Given the description of an element on the screen output the (x, y) to click on. 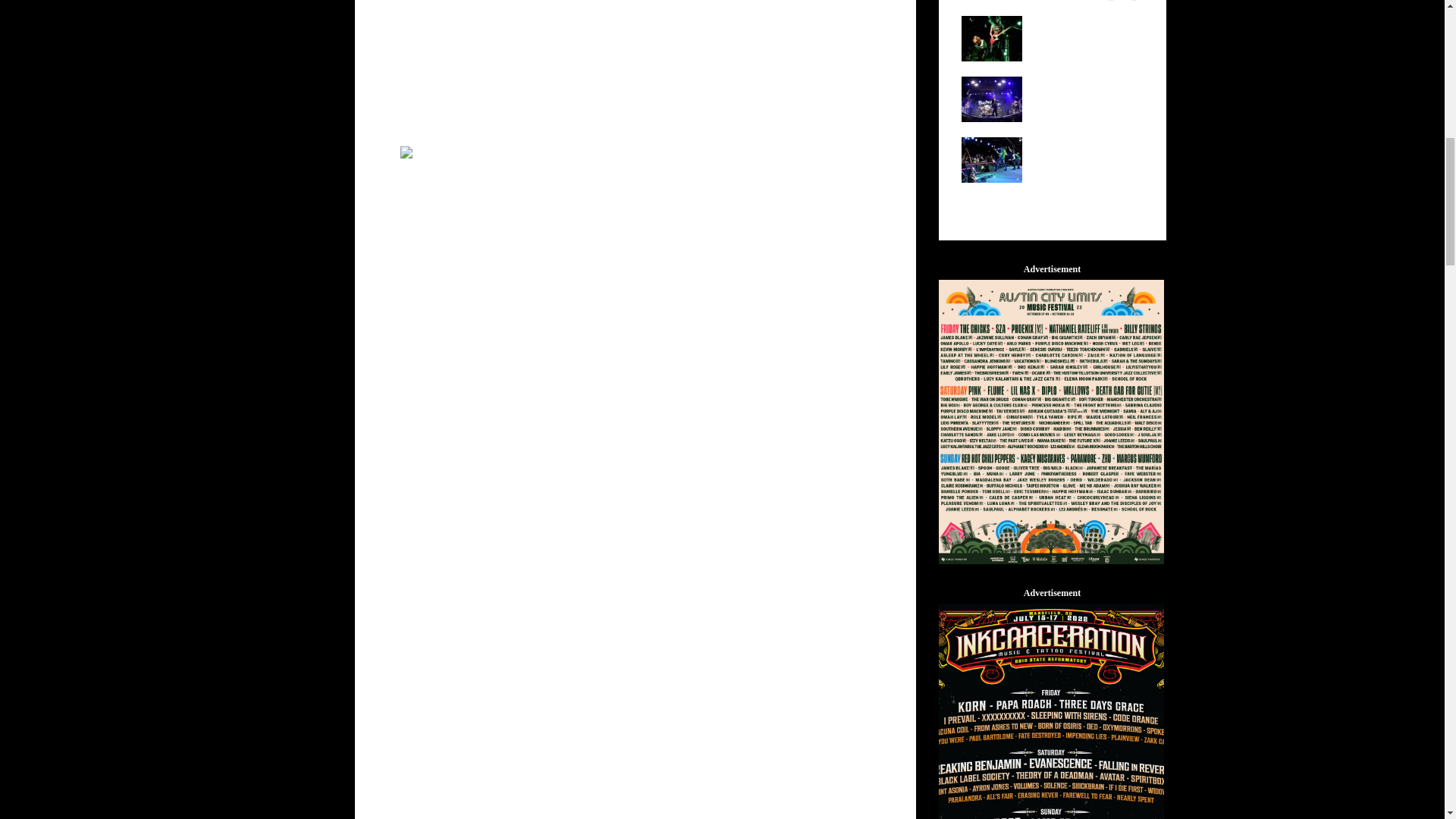
Buckcherry makes its return to Speaking Rock (991, 98)
Motionless In White returns to the El Paso County Coliseum (627, 188)
Kings of Thrash drop into the Rockhouse (991, 158)
Eyes Set to Kill makes their return to the Borderland (991, 37)
